Given the description of an element on the screen output the (x, y) to click on. 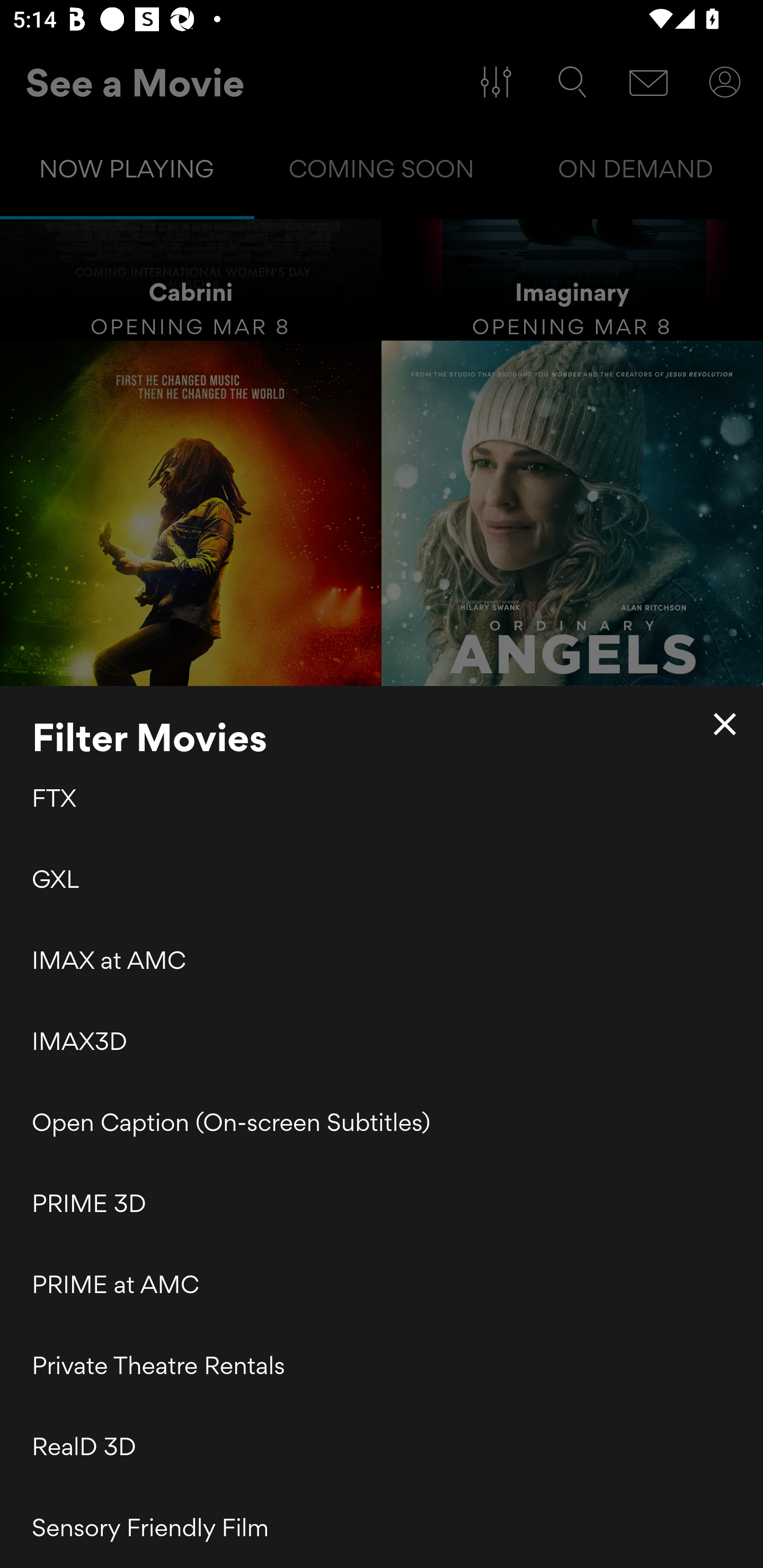
Close (724, 724)
FTX (381, 800)
GXL (381, 878)
IMAX at AMC (381, 959)
IMAX3D (381, 1040)
Open Caption (On-screen Subtitles) (381, 1122)
PRIME 3D (381, 1203)
PRIME at AMC (381, 1283)
Private Theatre Rentals (381, 1365)
RealD 3D (381, 1446)
Sensory Friendly Film (381, 1527)
